Given the description of an element on the screen output the (x, y) to click on. 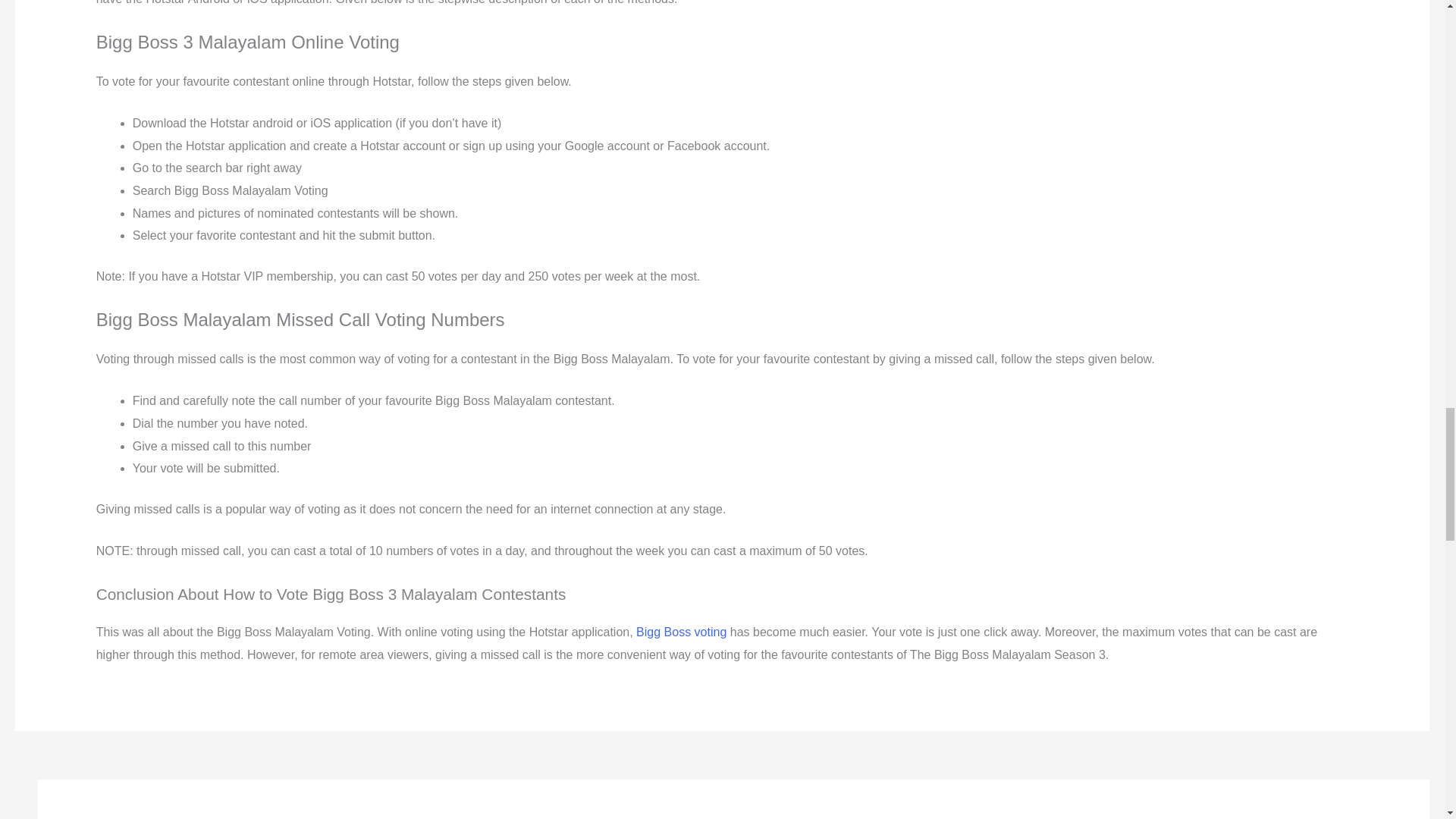
Bigg Boss voting (681, 631)
